Given the description of an element on the screen output the (x, y) to click on. 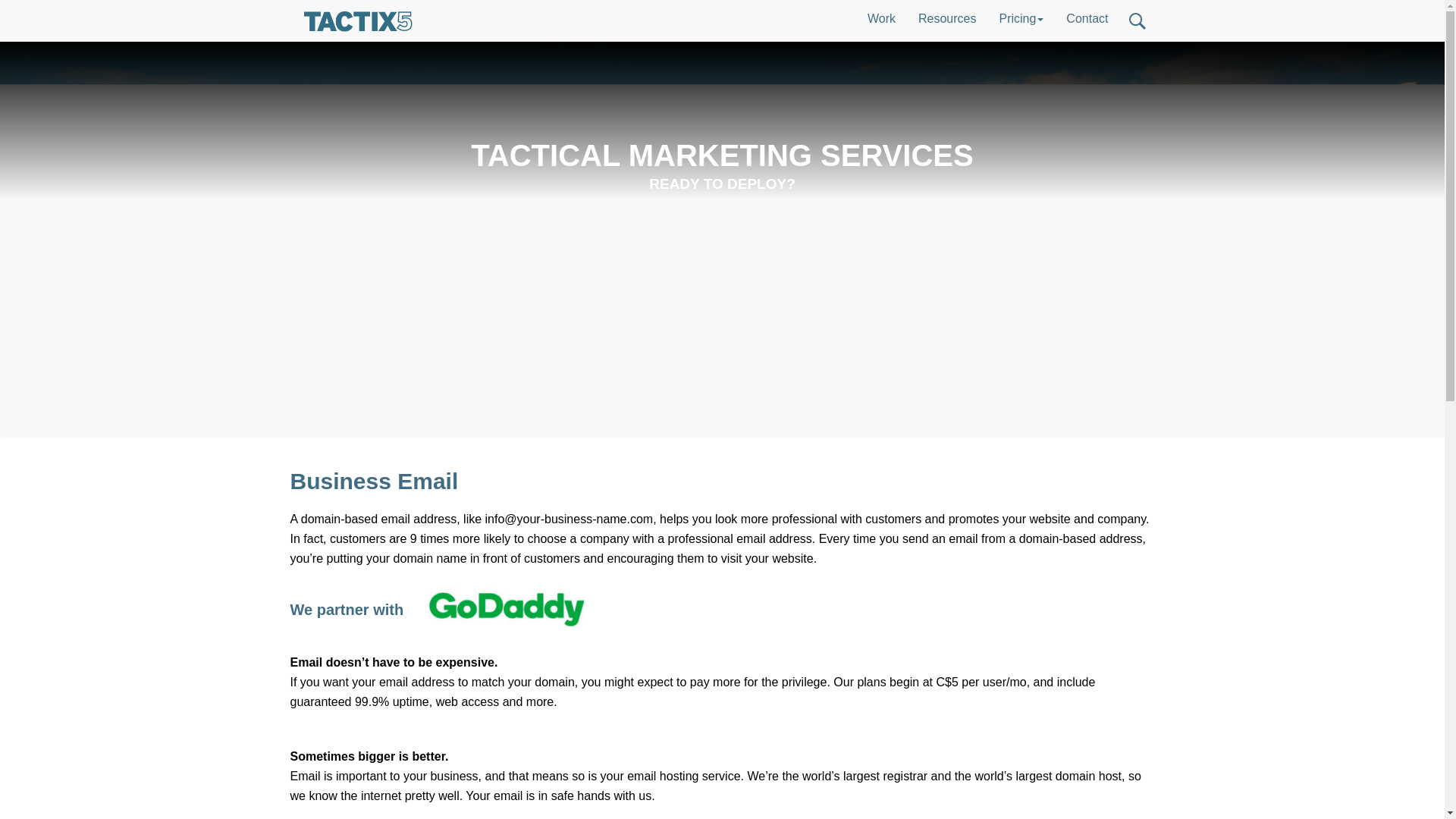
Pricing (1020, 18)
Contact (1086, 18)
Resources (947, 18)
Work (881, 18)
